Given the description of an element on the screen output the (x, y) to click on. 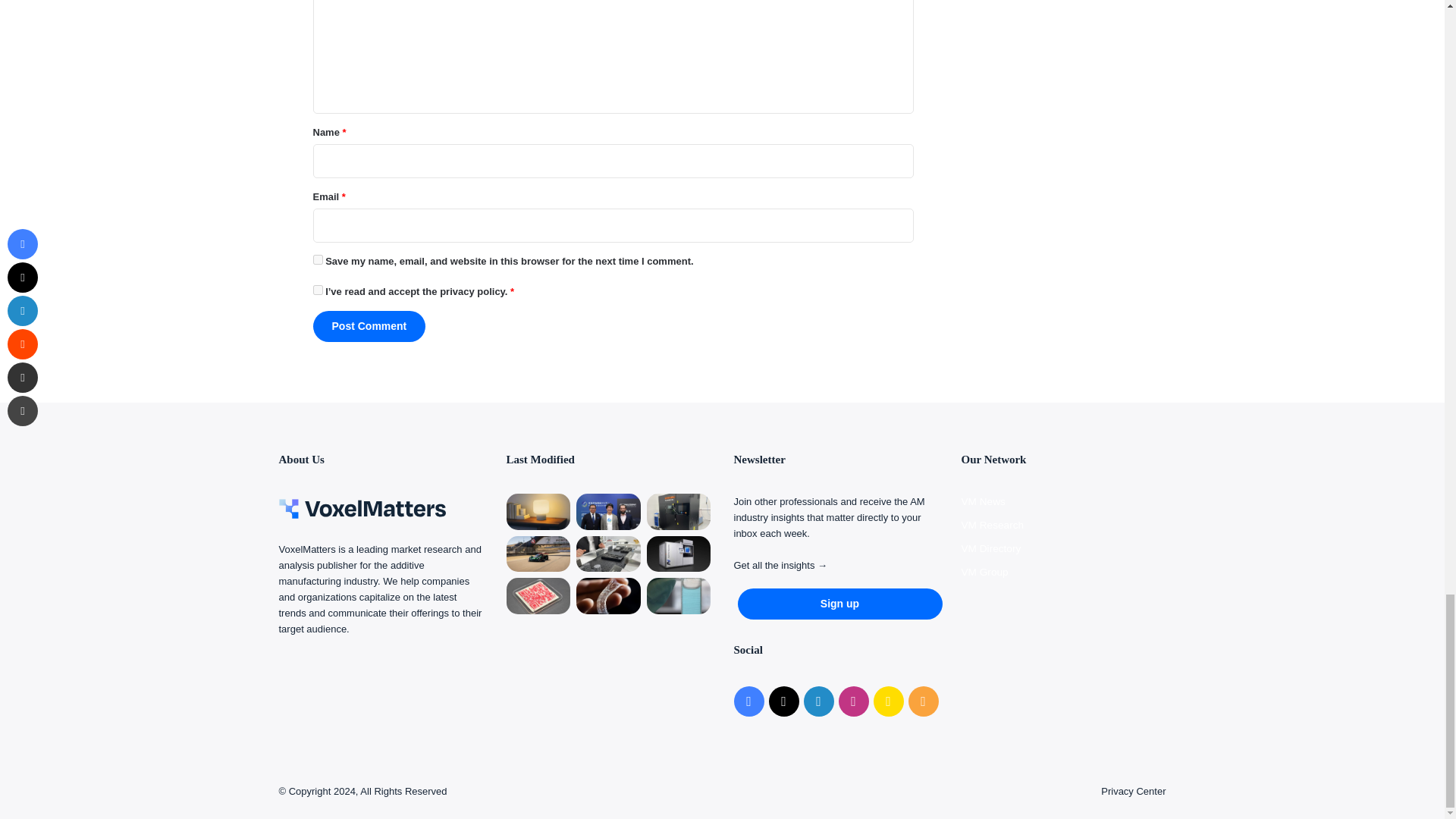
Post Comment (369, 326)
yes (317, 259)
on (317, 289)
Sign up (839, 603)
